Given the description of an element on the screen output the (x, y) to click on. 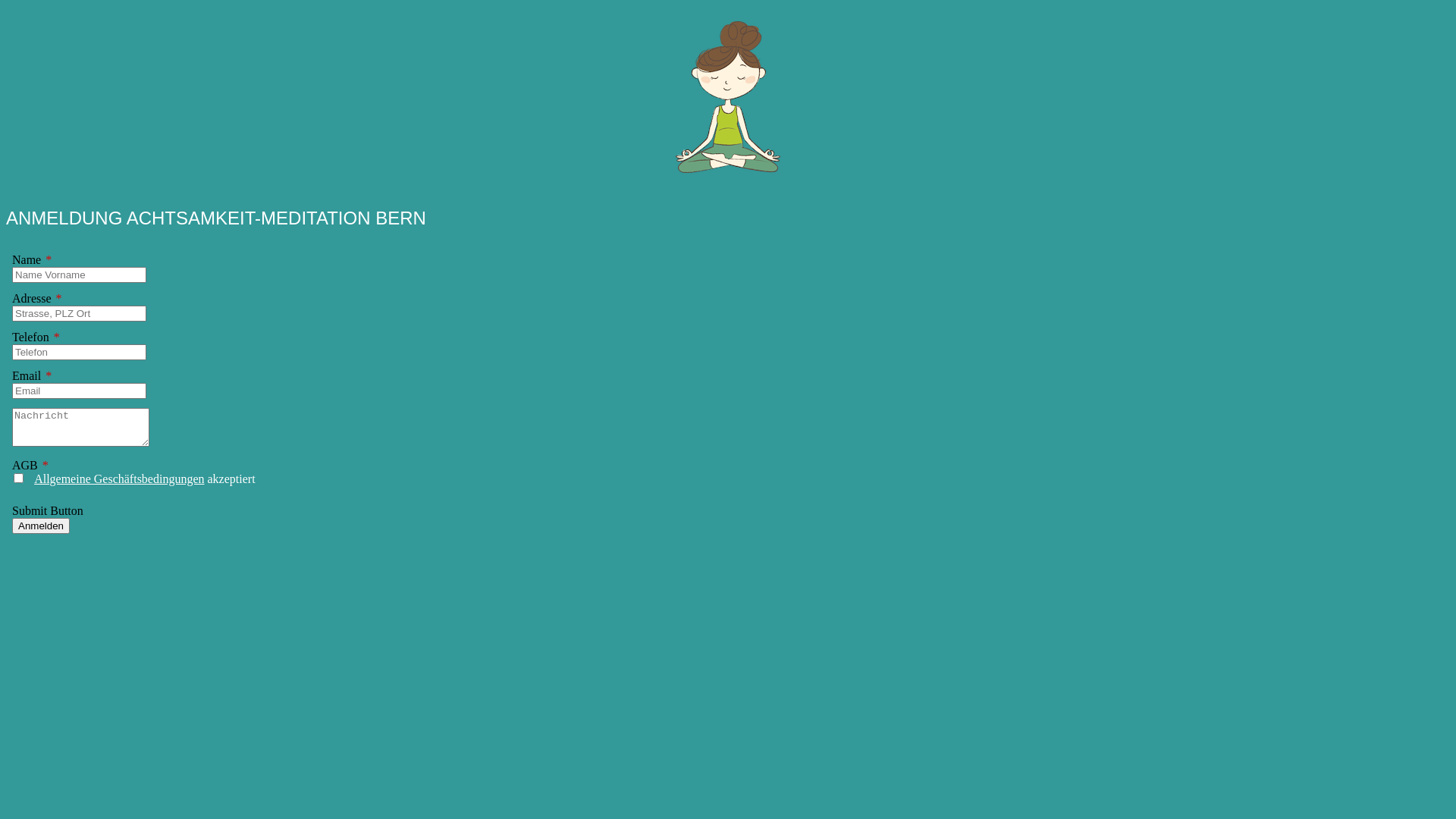
Anmelden Element type: text (40, 525)
